Given the description of an element on the screen output the (x, y) to click on. 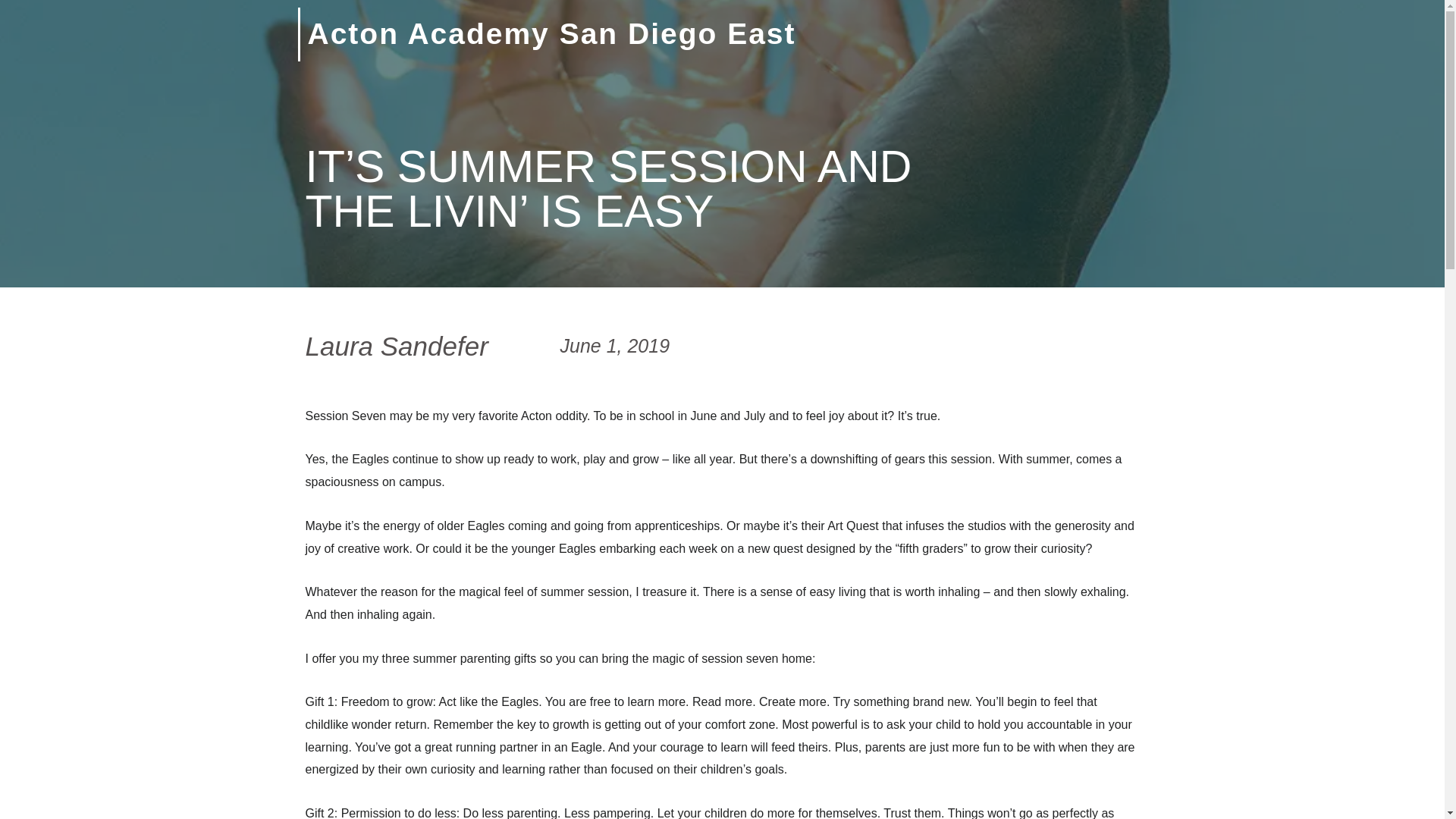
Acton Academy San Diego East (551, 33)
